Given the description of an element on the screen output the (x, y) to click on. 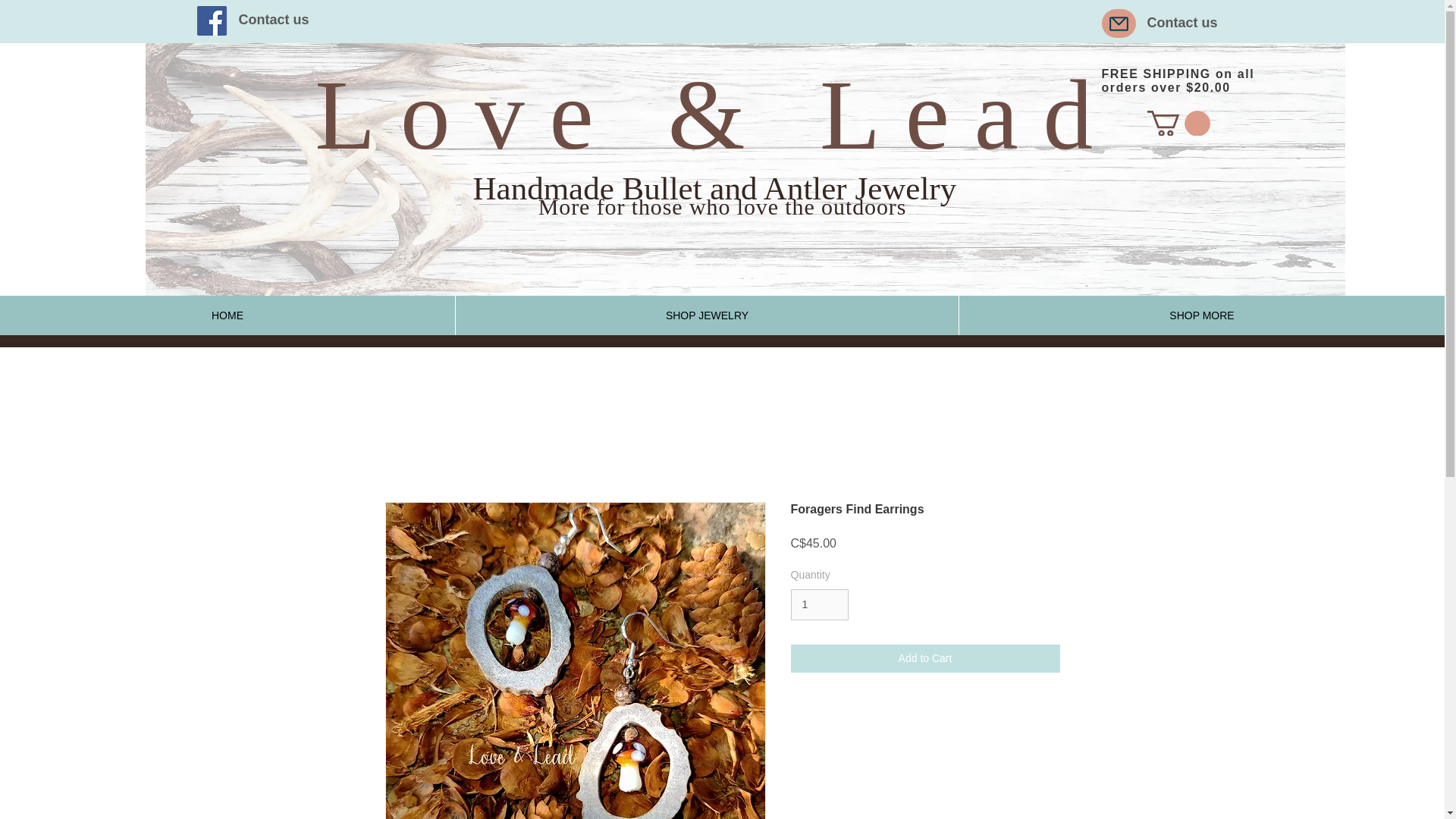
SHOP JEWELRY (706, 314)
HOME (227, 314)
1 (818, 603)
Add to Cart (924, 658)
